Given the description of an element on the screen output the (x, y) to click on. 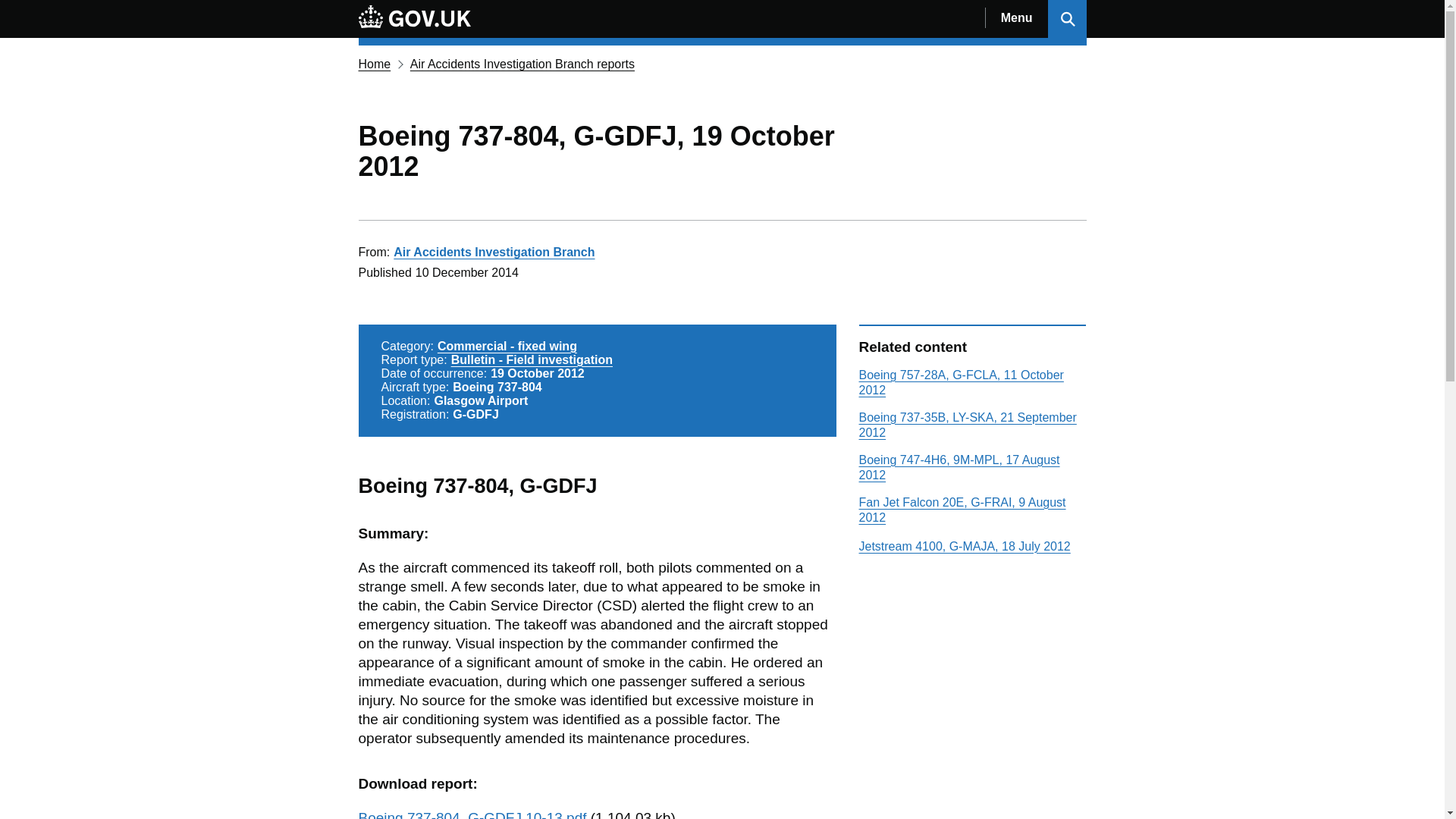
Bulletin - Field investigation (531, 359)
Menu (1016, 18)
Fan Jet Falcon 20E, G-FRAI, 9 August 2012 (962, 510)
GOV.UK (414, 18)
Commercial - fixed wing (507, 345)
Boeing 737-35B, LY-SKA, 21 September 2012 (967, 424)
Air Accidents Investigation Branch (493, 251)
Air Accidents Investigation Branch reports (522, 63)
Home (374, 63)
Boeing 737-804, G-GDFJ 10-13.pdf (472, 814)
